Given the description of an element on the screen output the (x, y) to click on. 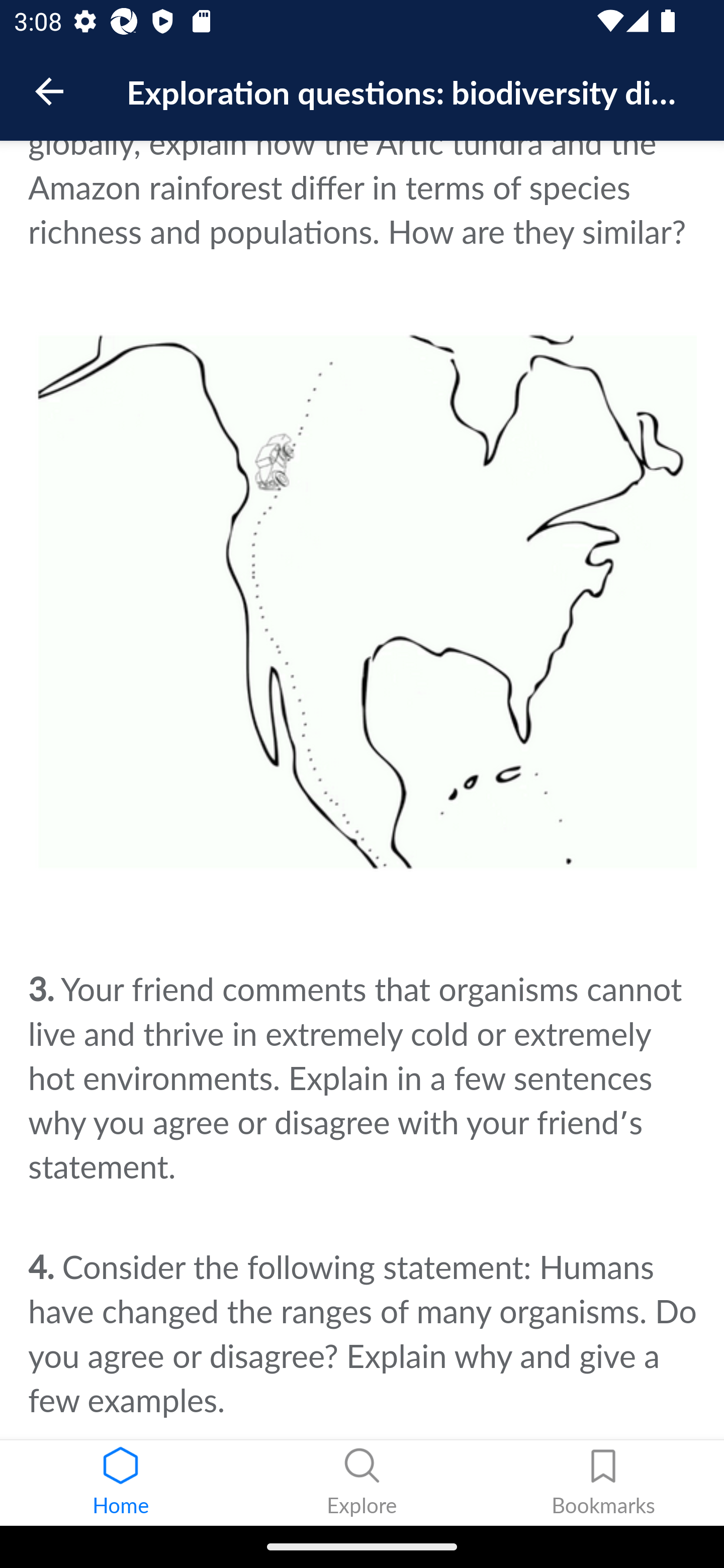
Navigate up (49, 91)
Home (120, 1482)
Explore (361, 1482)
Bookmarks (603, 1482)
